Given the description of an element on the screen output the (x, y) to click on. 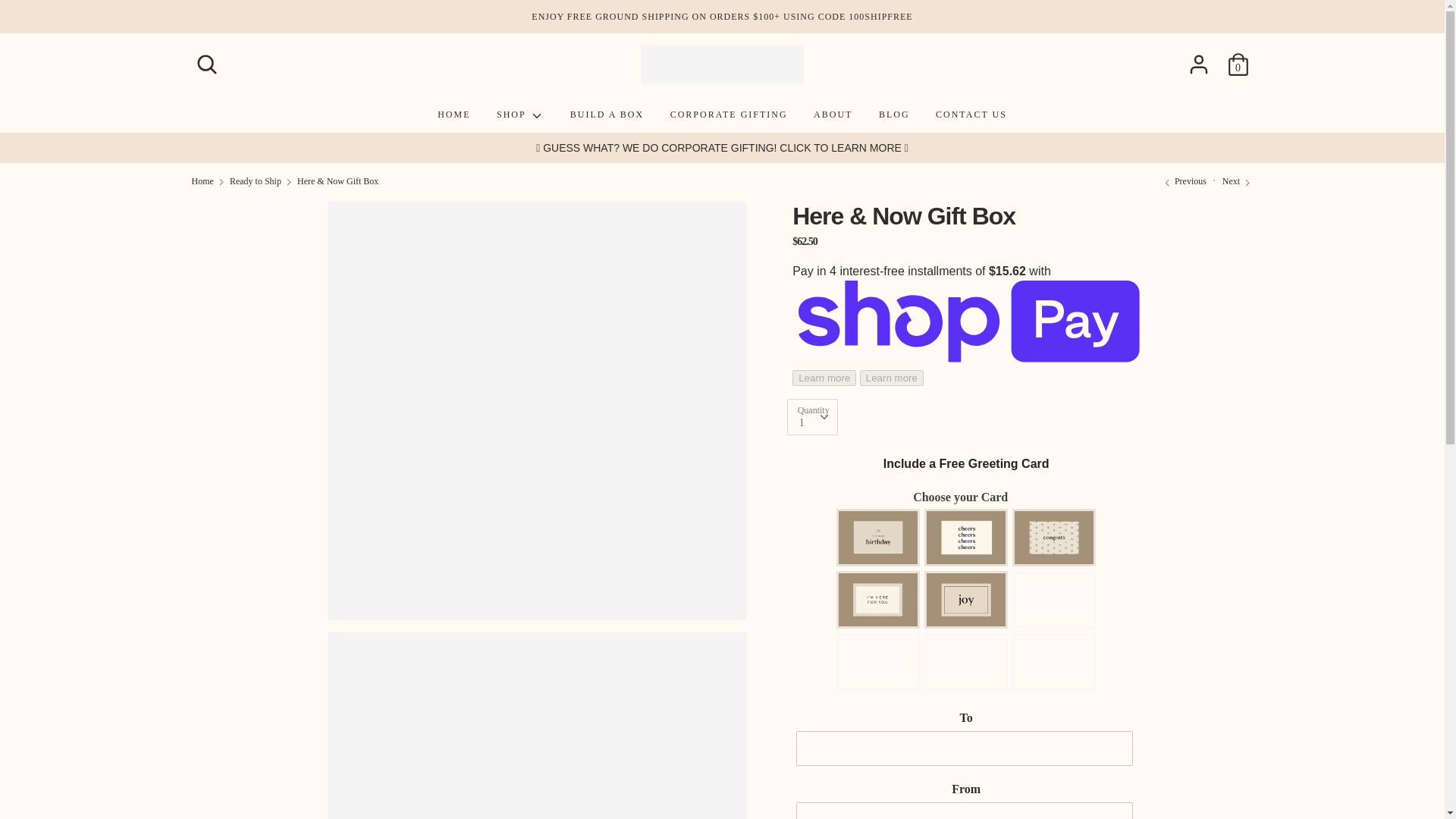
0 (1237, 57)
Search (205, 57)
Cool Gift Box (1238, 181)
Just Relax Gift Box (1184, 181)
